Given the description of an element on the screen output the (x, y) to click on. 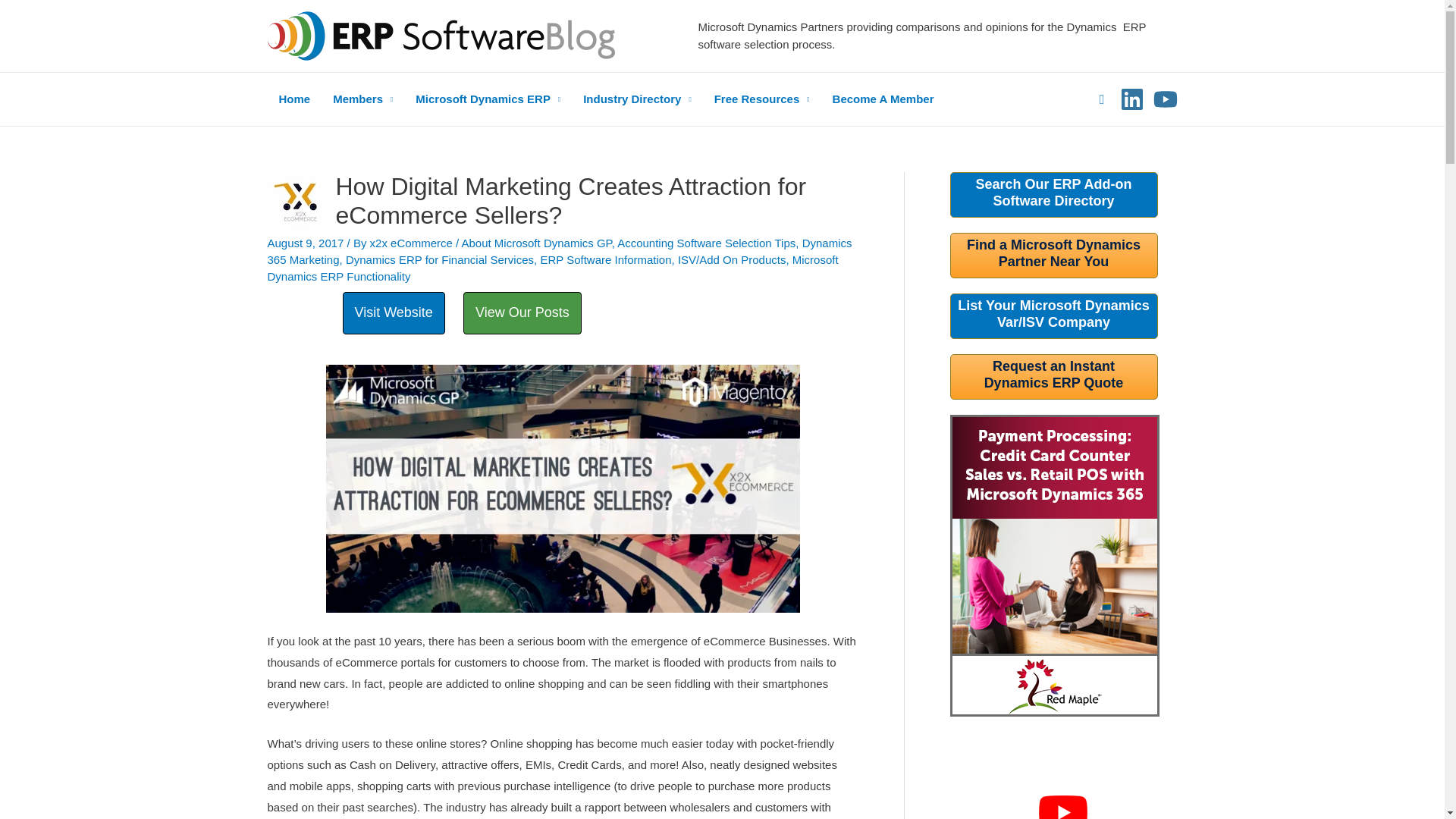
ERP Add-on Directory (1053, 192)
Home (293, 99)
Find a Microsoft Dynamics Partner near you (1053, 253)
Industry Directory (637, 99)
eCommerce Attraction (562, 488)
Request an instant Microsoft Dynamics GP Quote (1054, 374)
Microsoft Dynamics ERP (488, 99)
View all posts by x2x eCommerce (412, 242)
Find a Microsoft Dynamics Partner near you (1053, 314)
Members (362, 99)
